Given the description of an element on the screen output the (x, y) to click on. 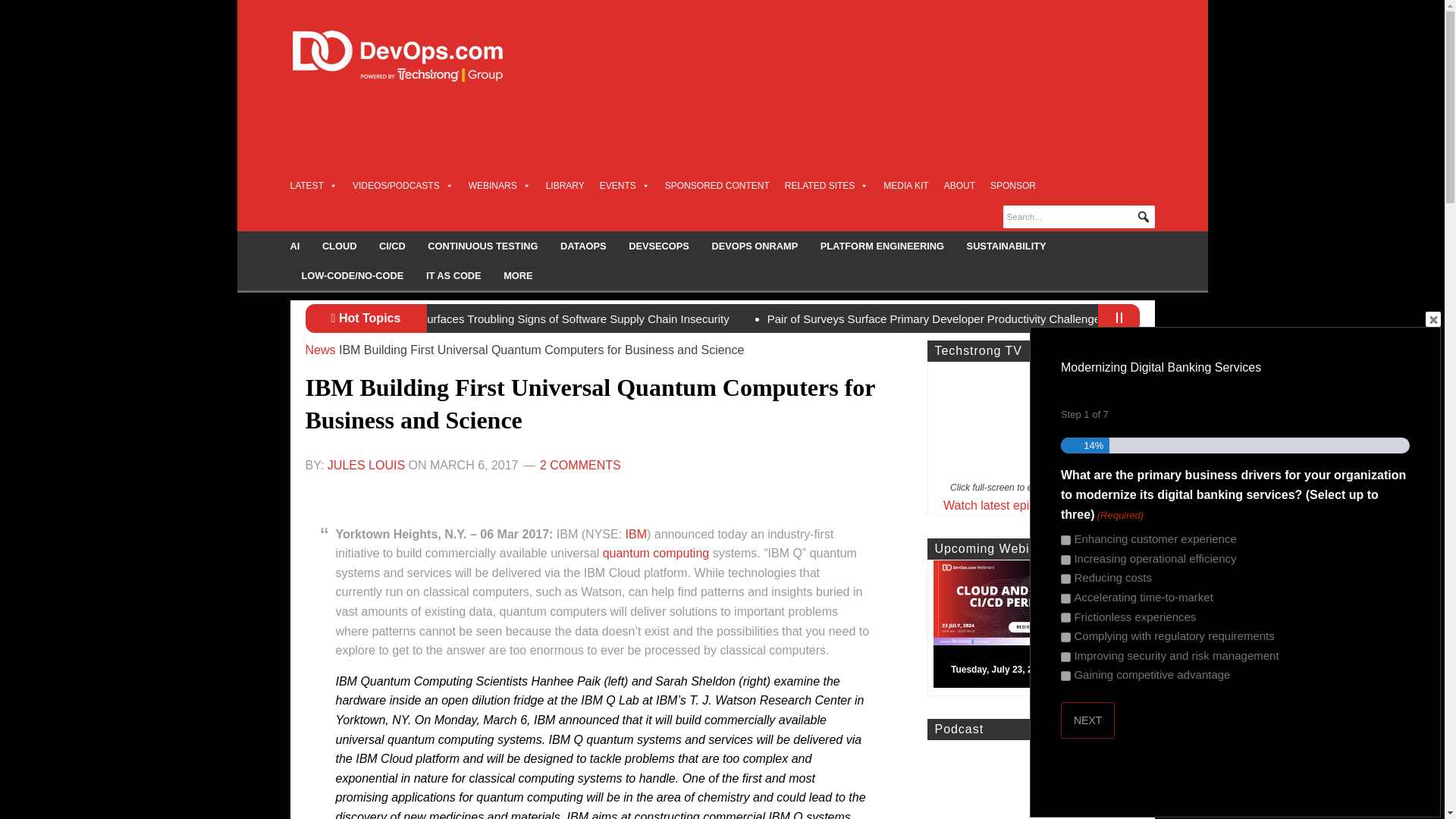
AI-Powered Solutions for Azure DevOps Pipelines (547, 318)
Tuesday, July 23, 2024 - 11:00 am EDT (1038, 627)
Frictionless experiences (1065, 617)
Enhancing customer experience (1065, 540)
EVENTS (624, 185)
3rd party ad content (878, 136)
Improving security and risk management (1065, 656)
LATEST (312, 185)
Gaining competitive advantage (1065, 675)
DEVOPS.COM (414, 56)
Next (1088, 719)
WEBINARS (499, 185)
RELATED SITES (825, 185)
SPONSORED CONTENT (717, 185)
